Given the description of an element on the screen output the (x, y) to click on. 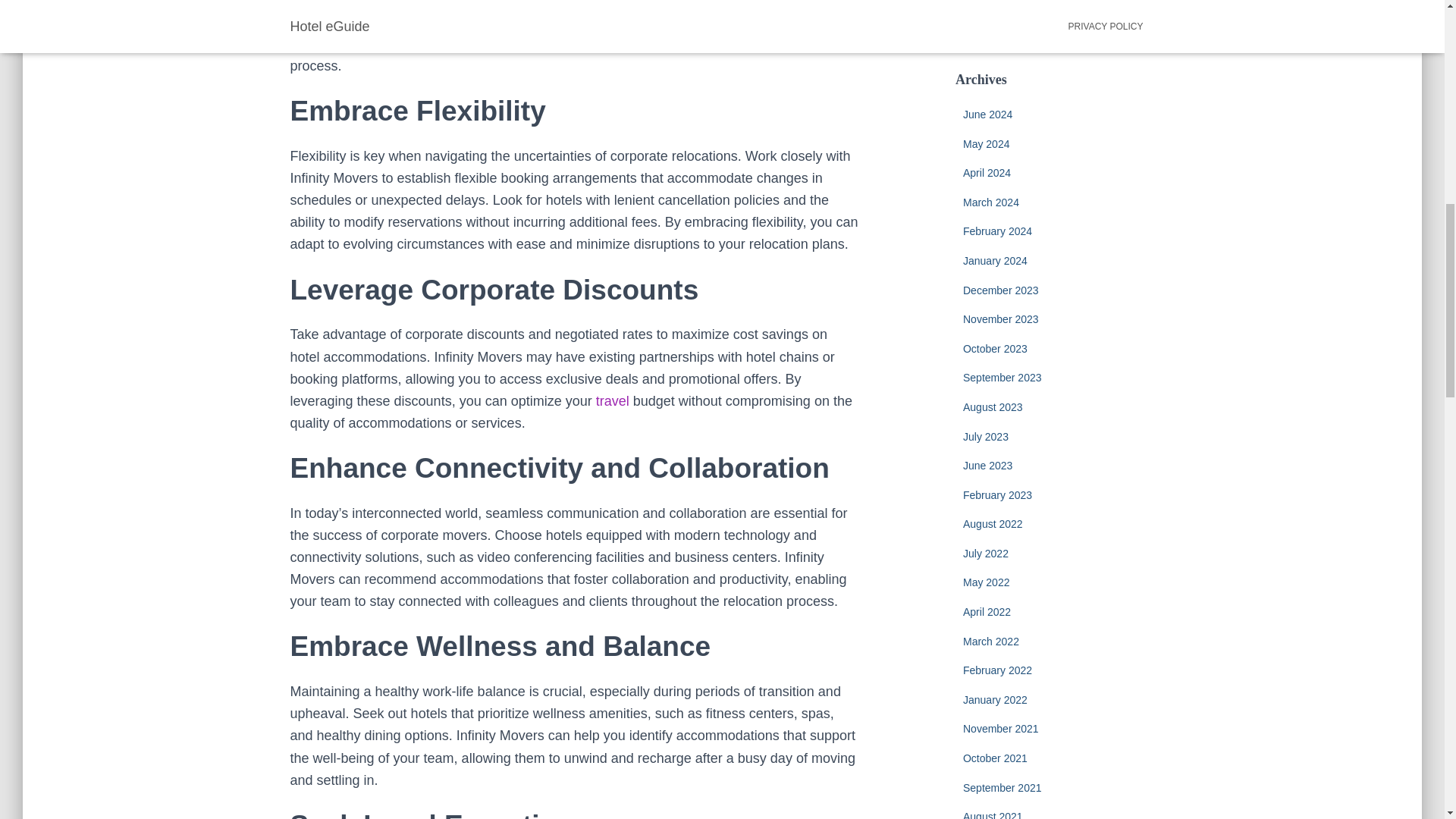
November 2023 (1000, 318)
March 2024 (990, 202)
May 2022 (985, 582)
June 2023 (986, 465)
December 2023 (1000, 290)
February 2023 (997, 494)
May 2024 (985, 143)
January 2022 (994, 699)
October 2023 (994, 348)
July 2023 (985, 436)
